Given the description of an element on the screen output the (x, y) to click on. 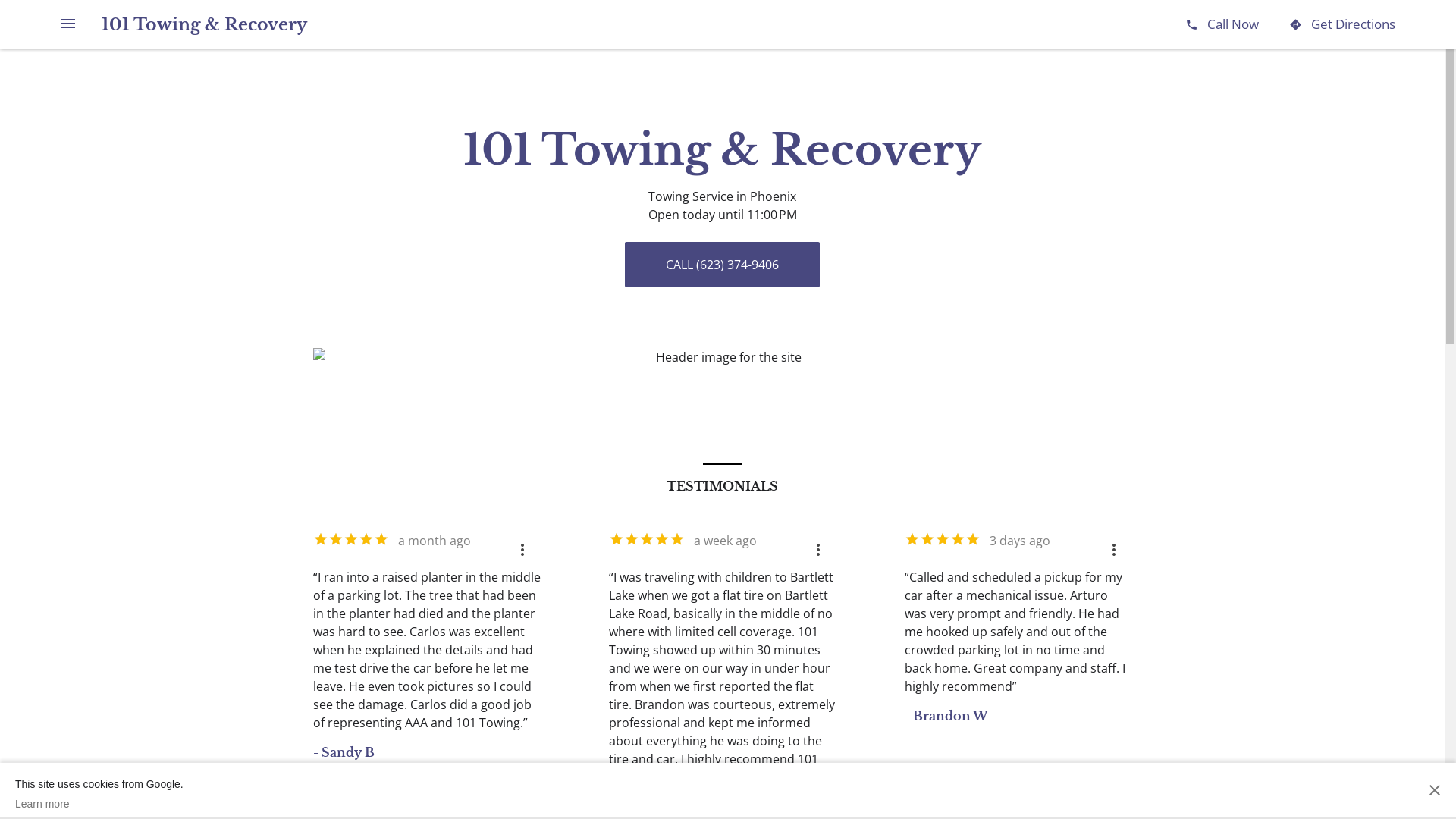
Learn more Element type: text (99, 803)
CALL (623) 374-9406 Element type: text (721, 264)
101 Towing & Recovery Element type: text (204, 23)
